Given the description of an element on the screen output the (x, y) to click on. 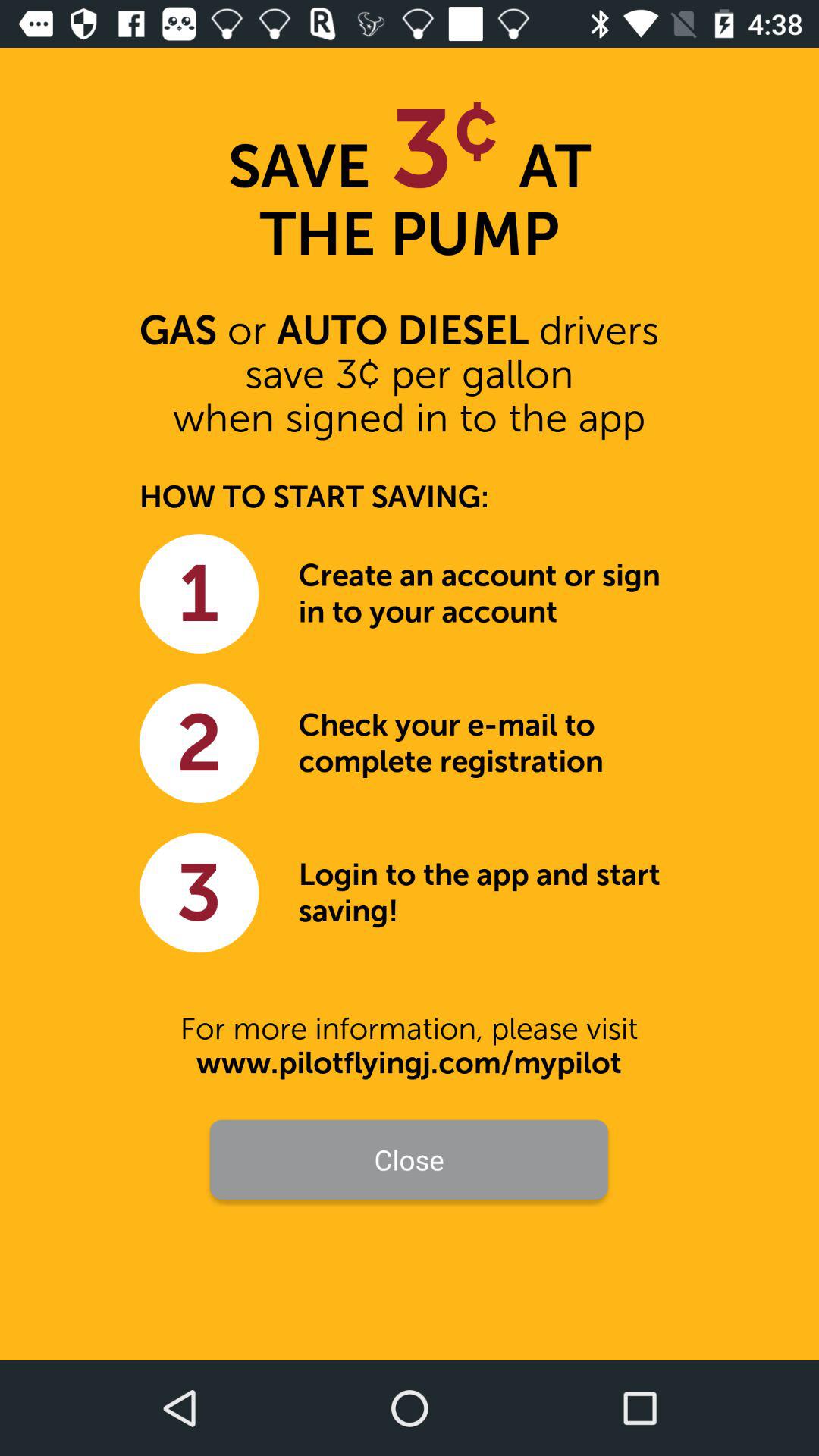
select www pilotflyingj com icon (409, 1062)
